Given the description of an element on the screen output the (x, y) to click on. 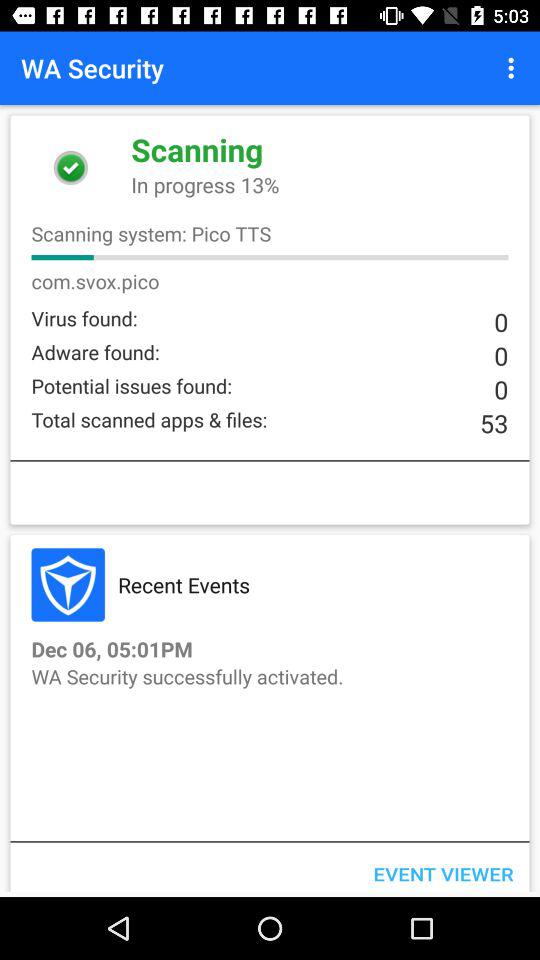
turn off the item above the in progress 17% (513, 67)
